Given the description of an element on the screen output the (x, y) to click on. 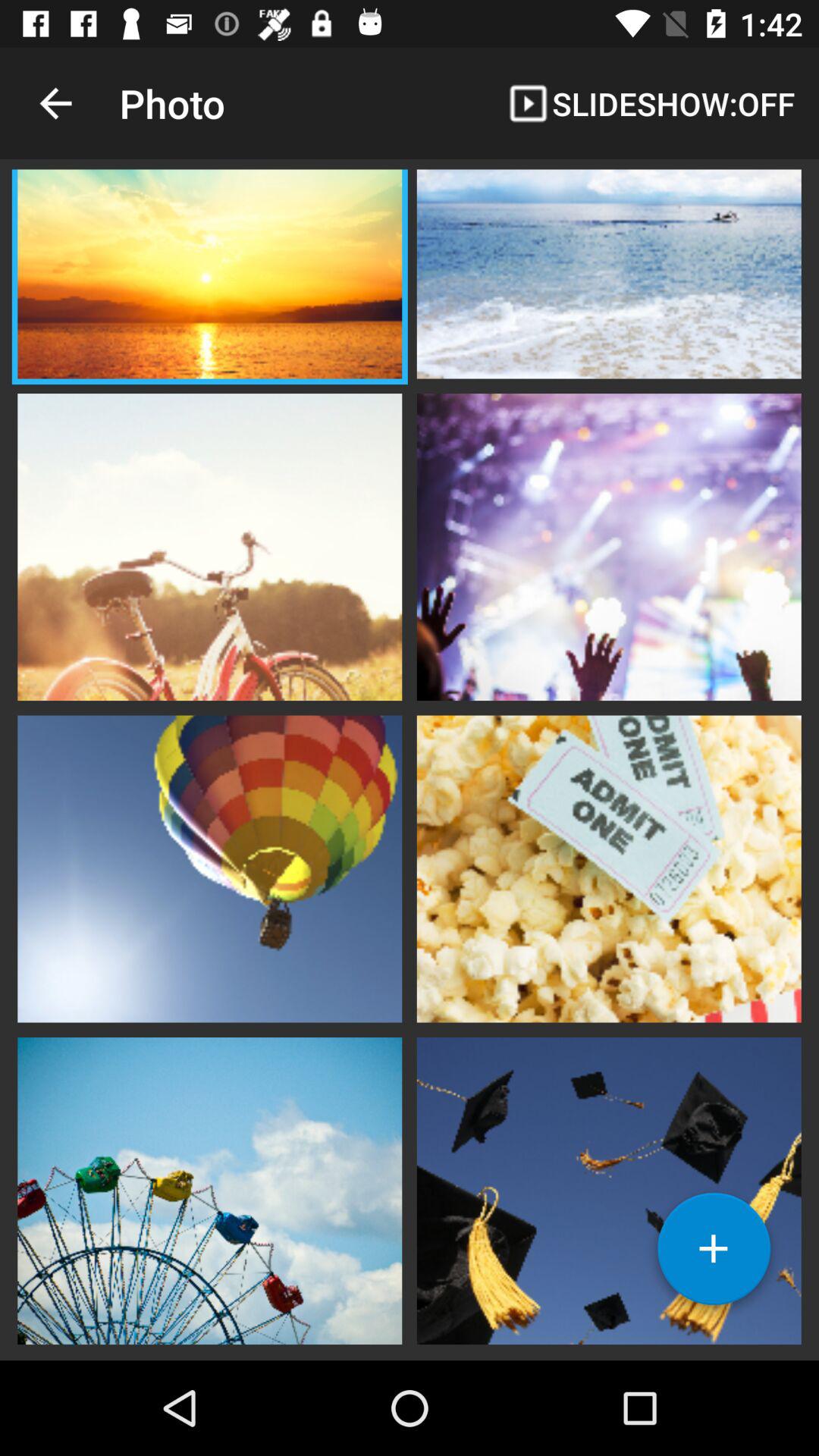
select photo (209, 1189)
